Given the description of an element on the screen output the (x, y) to click on. 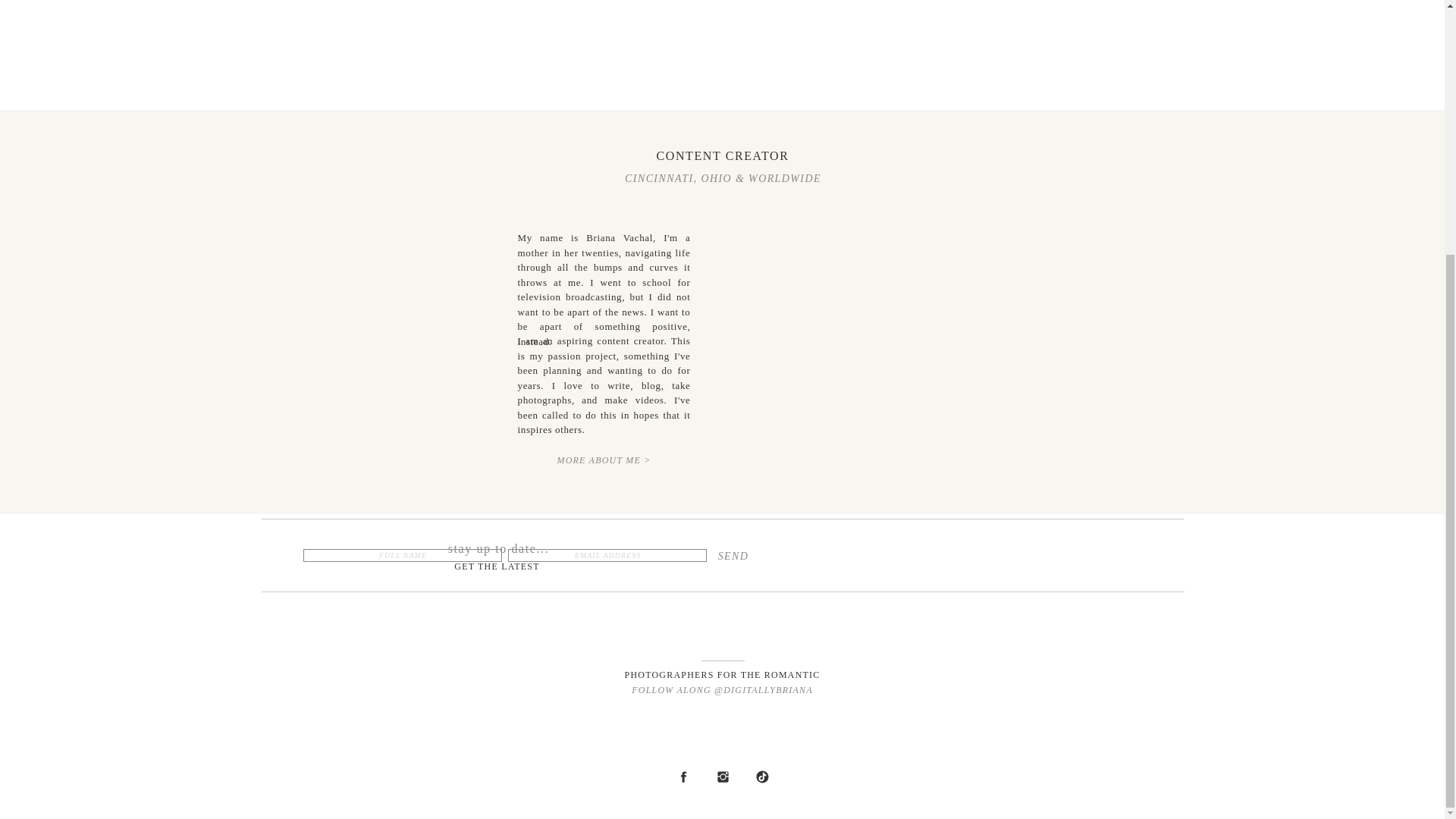
SEND (733, 555)
